Given the description of an element on the screen output the (x, y) to click on. 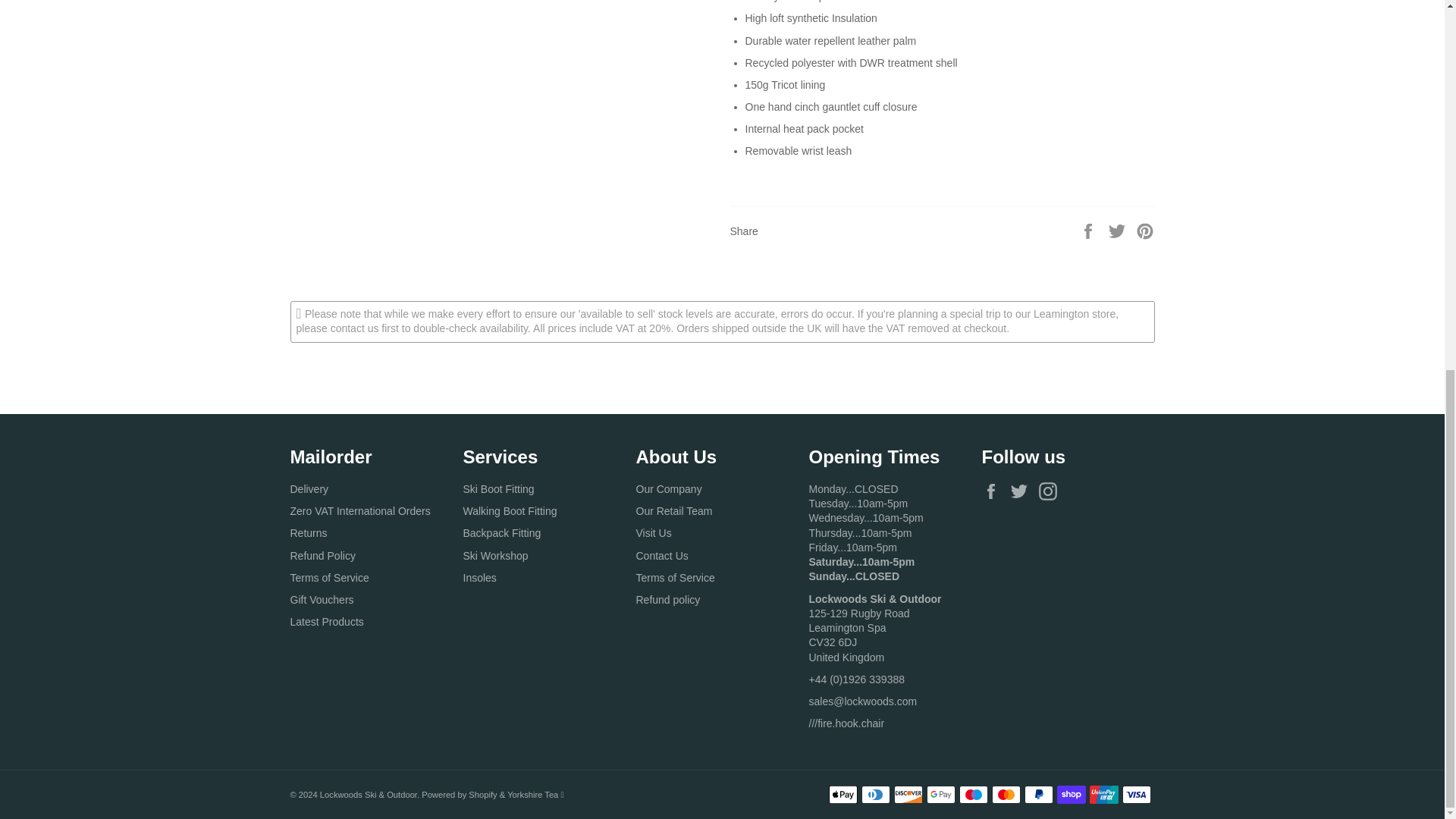
Tweet on Twitter (1118, 230)
Visit Us (865, 533)
What3words location (845, 723)
Pin on Pinterest (1144, 230)
Share on Facebook (1089, 230)
